Given the description of an element on the screen output the (x, y) to click on. 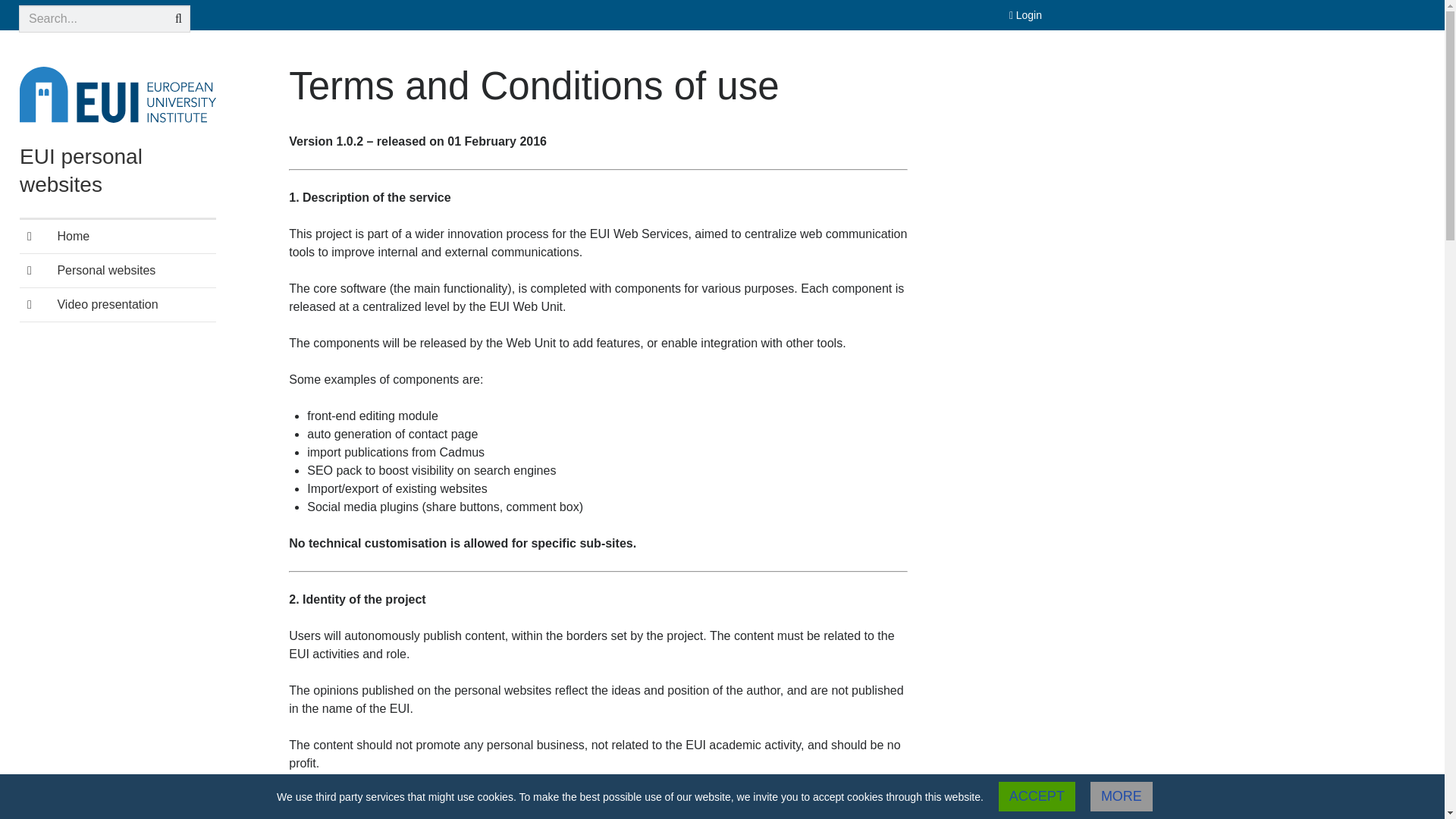
ACCEPT (1036, 796)
EUI Logo (117, 94)
MORE (1121, 796)
Home (117, 236)
Personal websites (117, 270)
 Login (1025, 15)
Video presentation (117, 304)
Login (1025, 15)
